Given the description of an element on the screen output the (x, y) to click on. 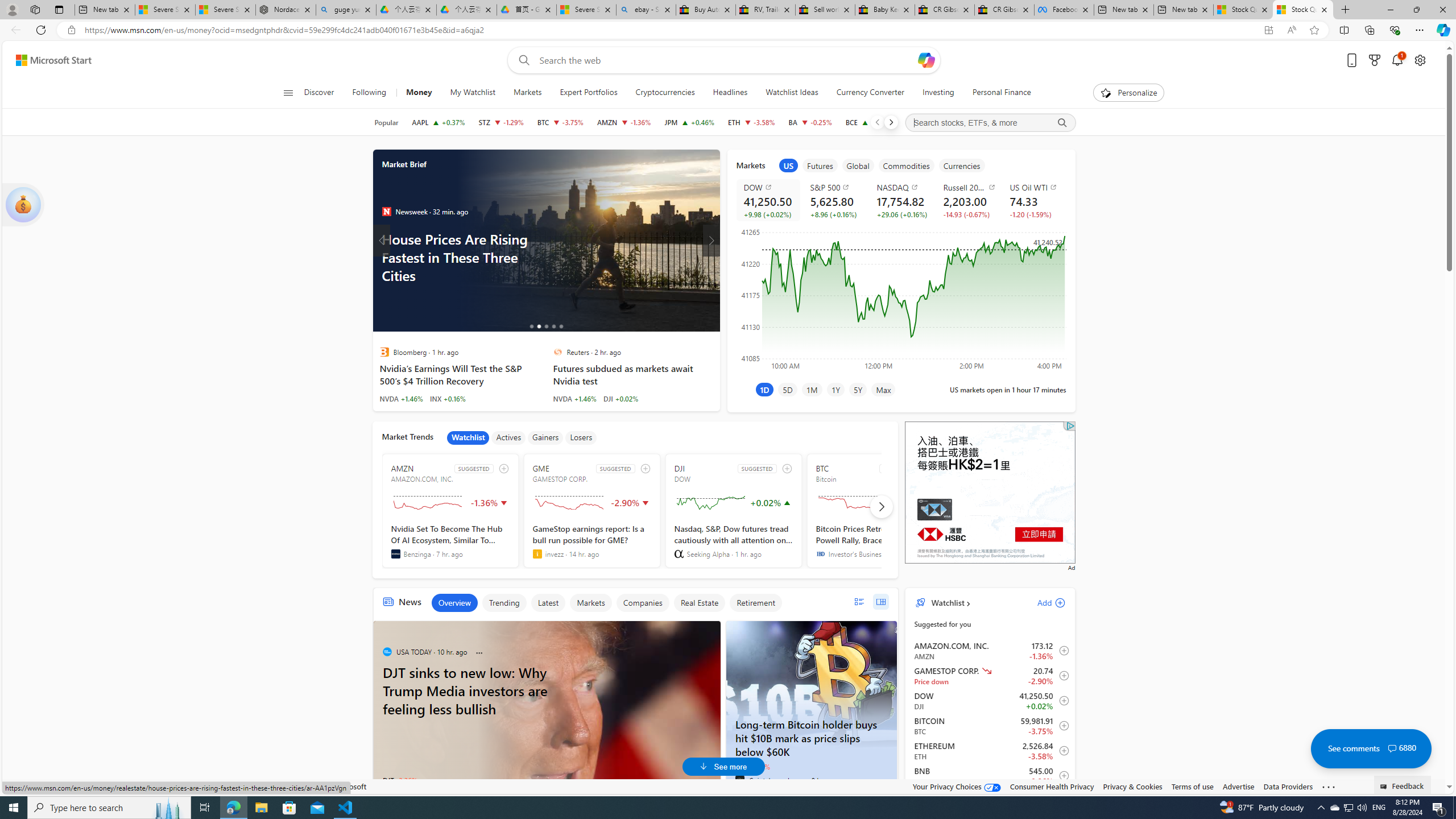
Futures subdued as markets await Nvidia test - Reuters (633, 374)
Next (890, 122)
Sell worldwide with eBay (825, 9)
Reuters (557, 351)
Money (418, 92)
DJI SUGGESTED DOW (733, 510)
S&P 500 (836, 187)
DOW DJI increase 41,250.50 +9.98 +0.02% (767, 200)
Data Providers (1288, 785)
Consumer Health Privacy (1051, 786)
Investing (937, 92)
